Given the description of an element on the screen output the (x, y) to click on. 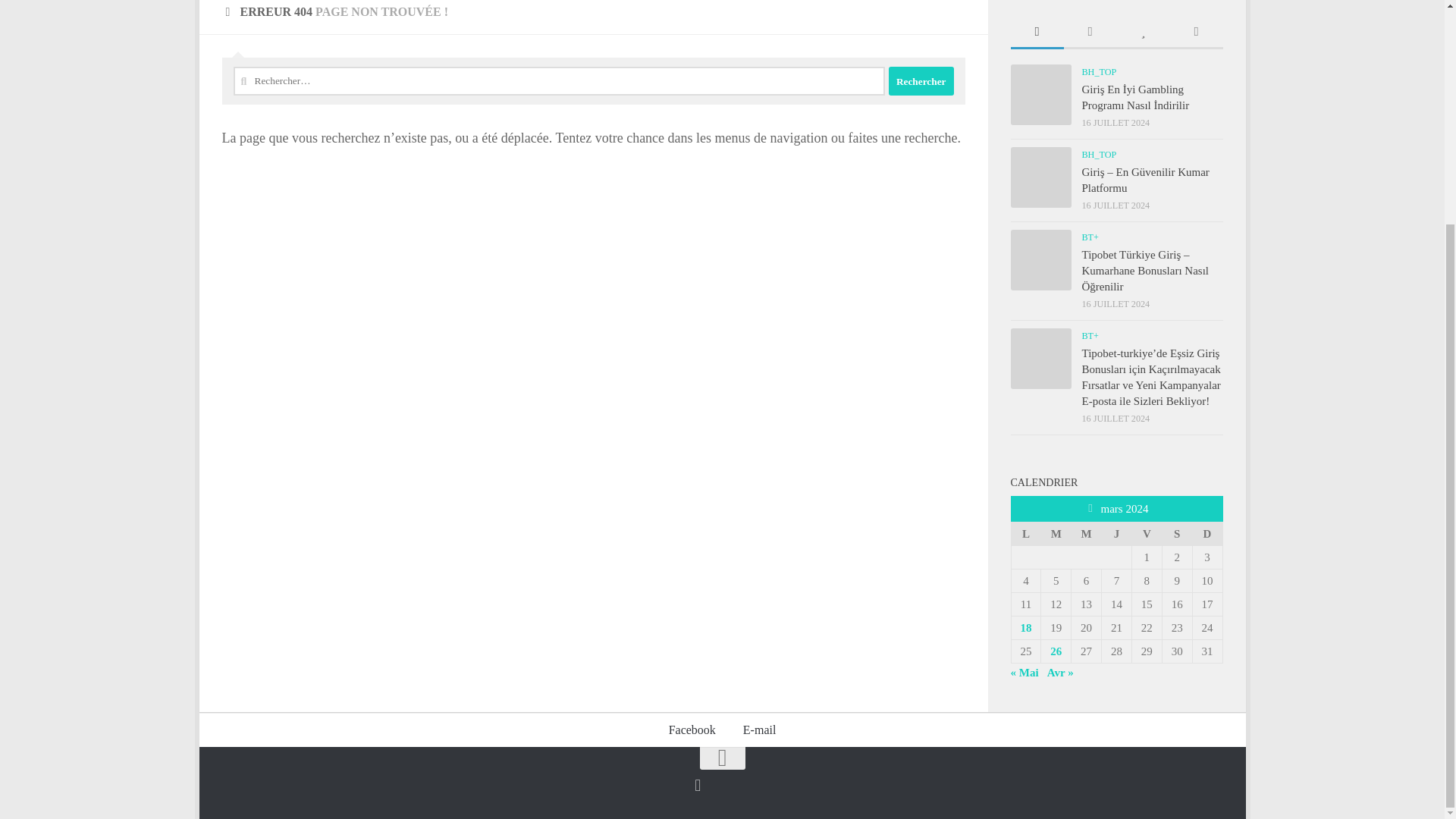
lundi (1025, 533)
vendredi (1146, 533)
Articles populaires (1142, 32)
Rechercher (920, 80)
mardi (1056, 533)
jeudi (1117, 533)
dimanche (1207, 533)
samedi (1176, 533)
Rechercher (920, 80)
Rechercher (920, 80)
mercredi (1086, 533)
